Given the description of an element on the screen output the (x, y) to click on. 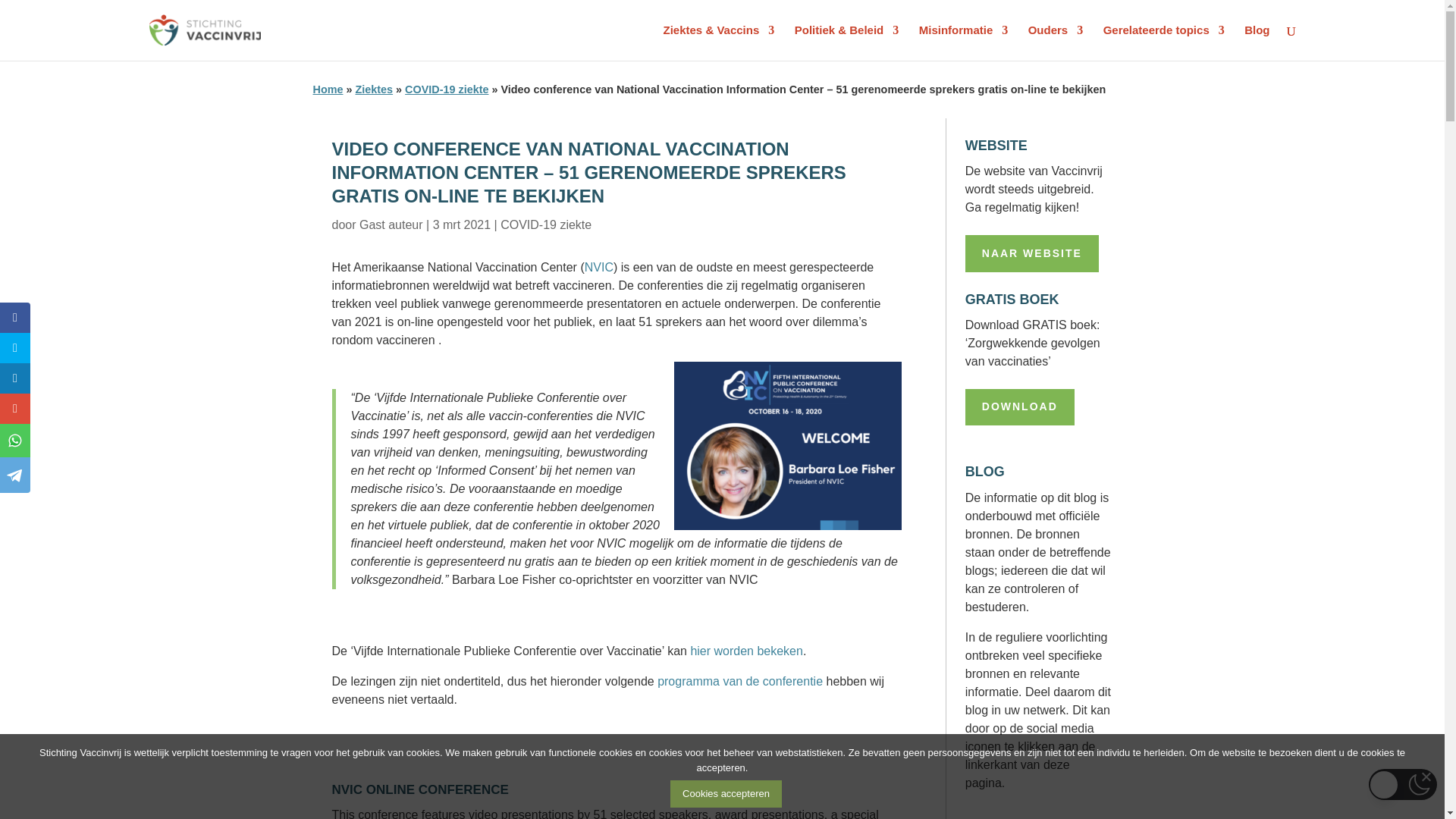
Nee (1425, 776)
Misinformatie (963, 42)
Posts van Gast auteur (391, 224)
